Given the description of an element on the screen output the (x, y) to click on. 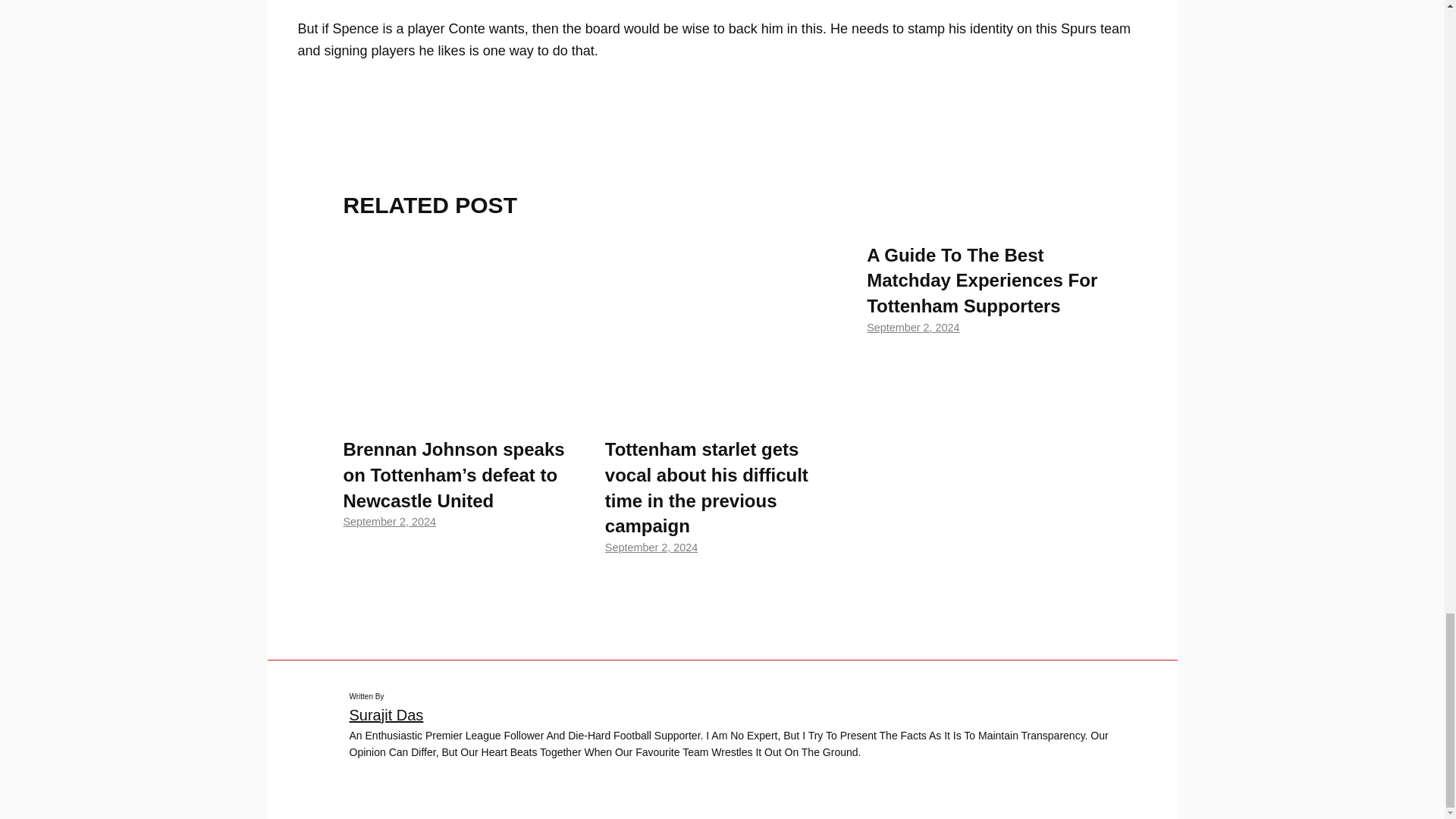
9:45 pm (388, 521)
8:51 pm (912, 327)
9:15 pm (651, 547)
